Given the description of an element on the screen output the (x, y) to click on. 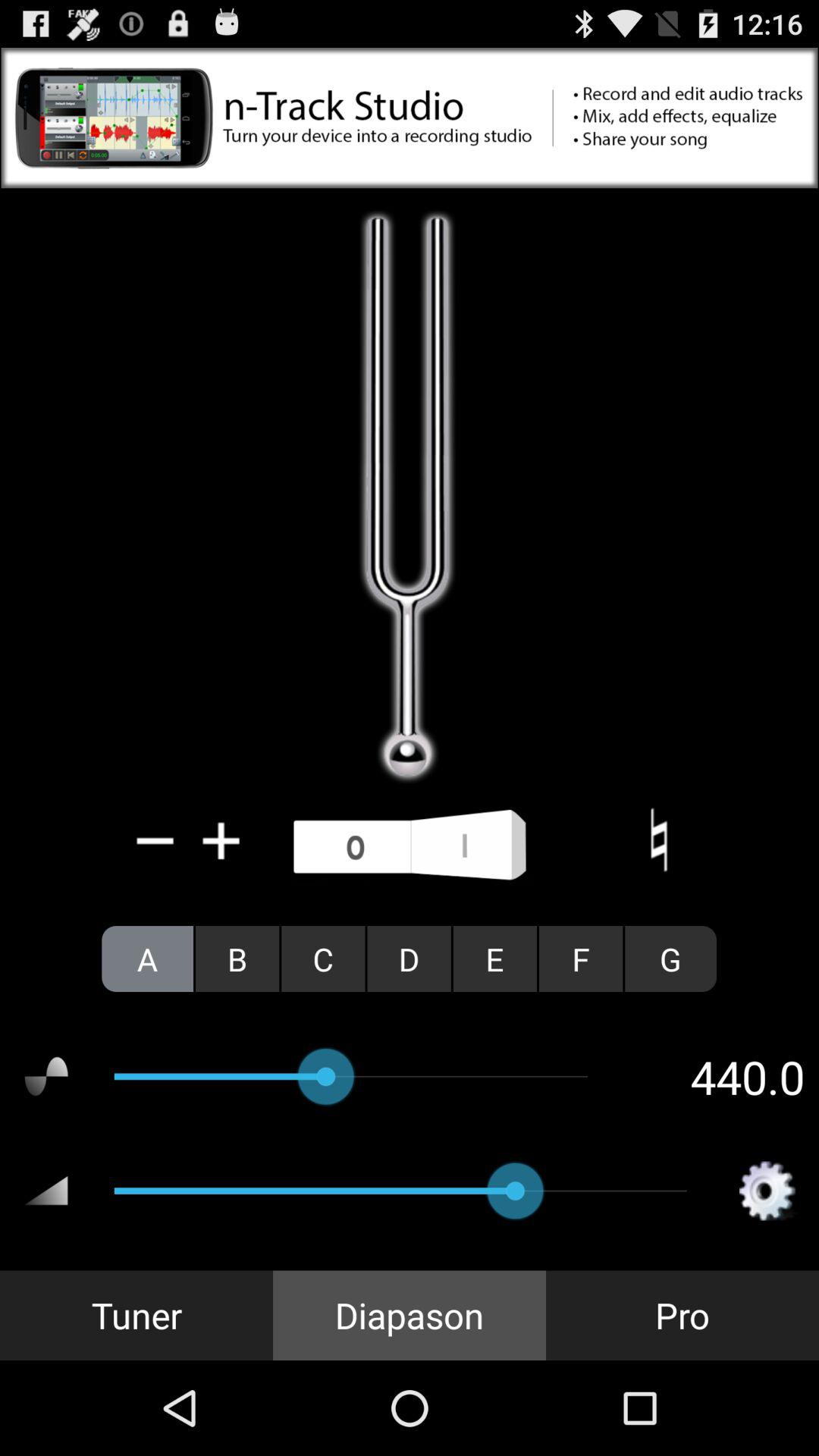
turn on radio button above a (155, 840)
